Given the description of an element on the screen output the (x, y) to click on. 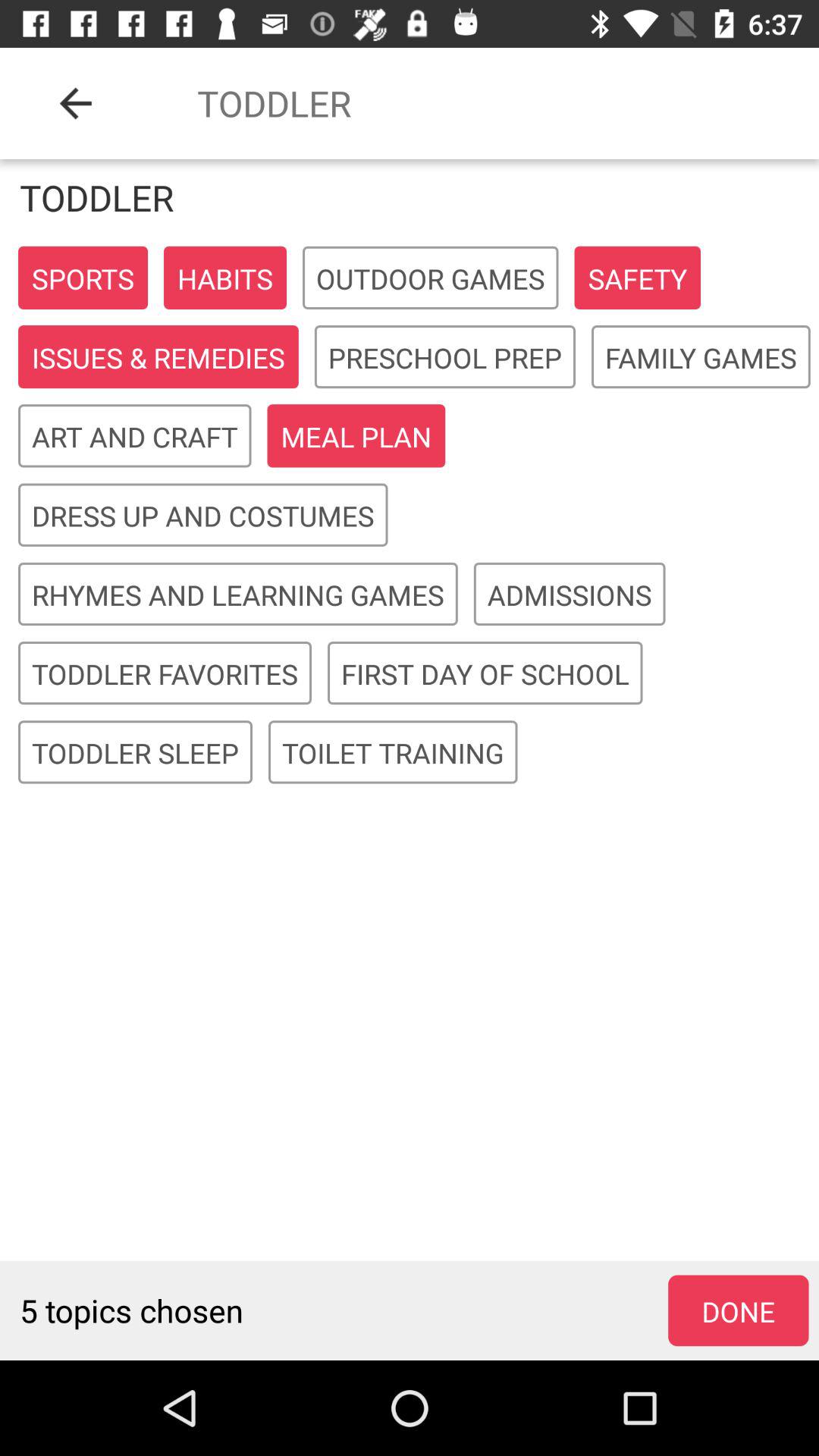
click on the safety right next to outdoor games (637, 278)
tap on the box that reads outdoor games (430, 278)
click the button on the bottom right corner of the web page (738, 1310)
click on the box below art and craft (203, 515)
click on toddler sleep in the last line (135, 752)
click the button sports on the web page (83, 278)
select toilet training in the last line (392, 752)
click the button habits on the web page (224, 278)
